Given the description of an element on the screen output the (x, y) to click on. 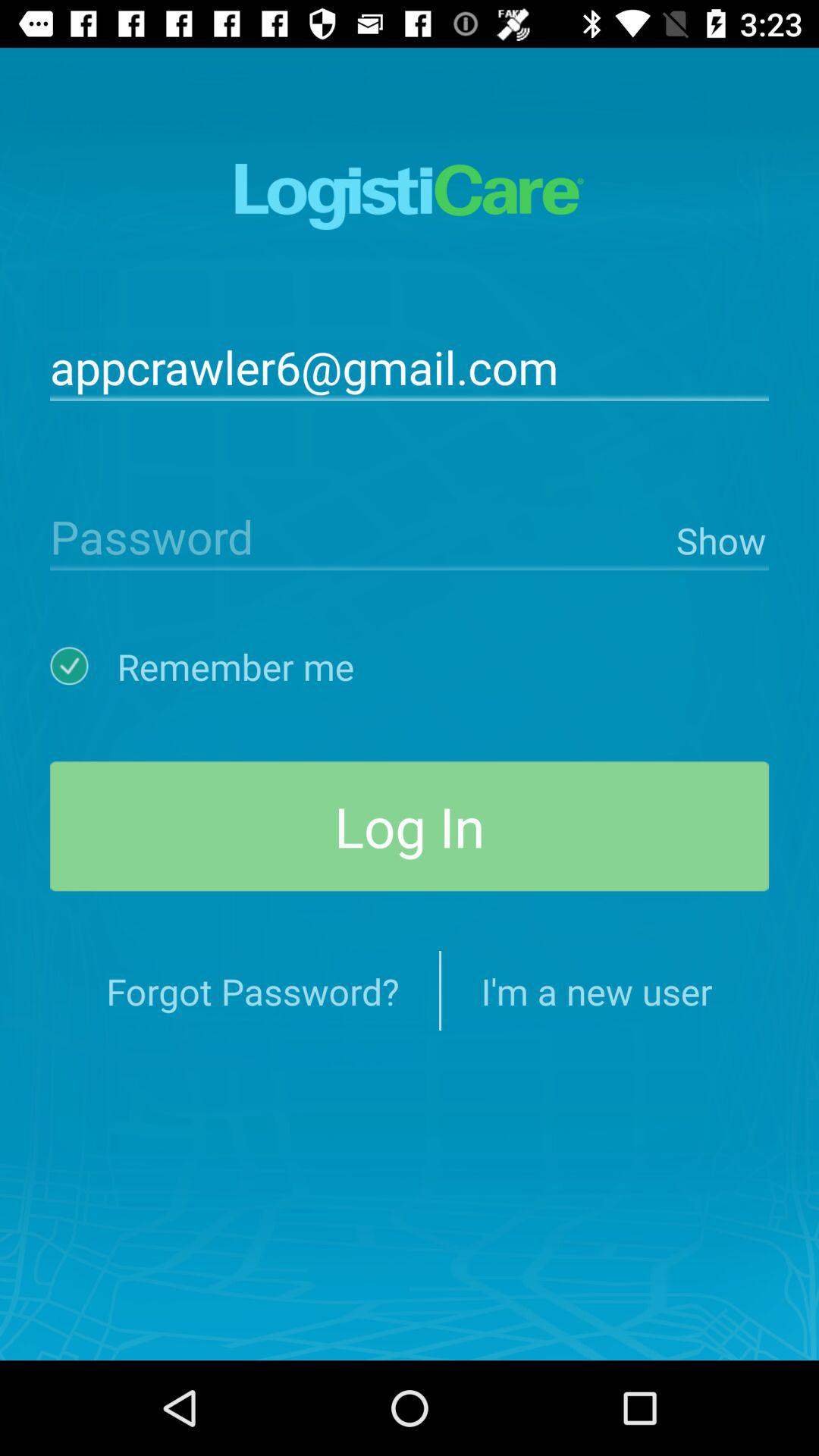
scroll until i m a (596, 990)
